Given the description of an element on the screen output the (x, y) to click on. 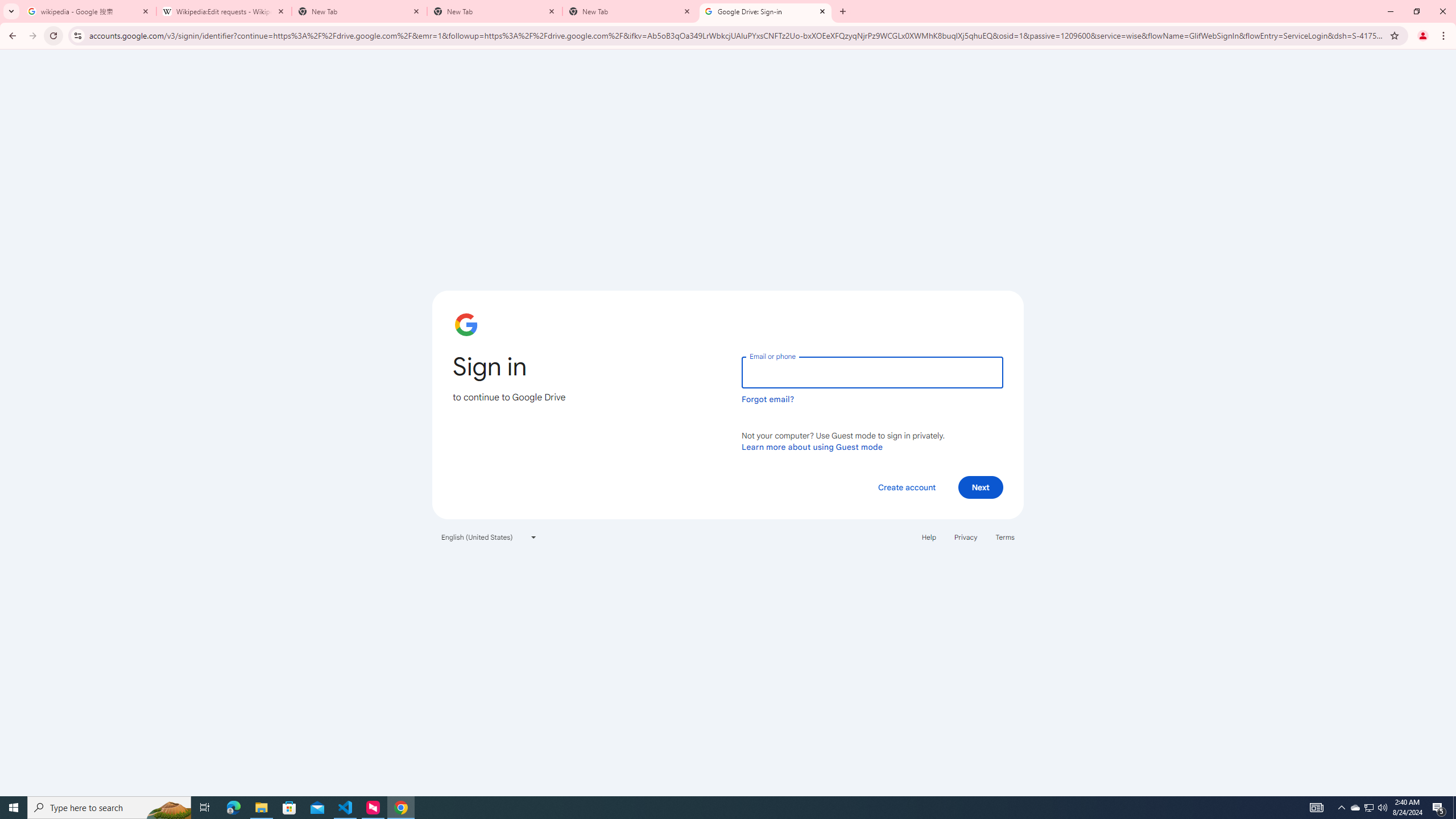
Create account (905, 486)
View site information (77, 35)
